Given the description of an element on the screen output the (x, y) to click on. 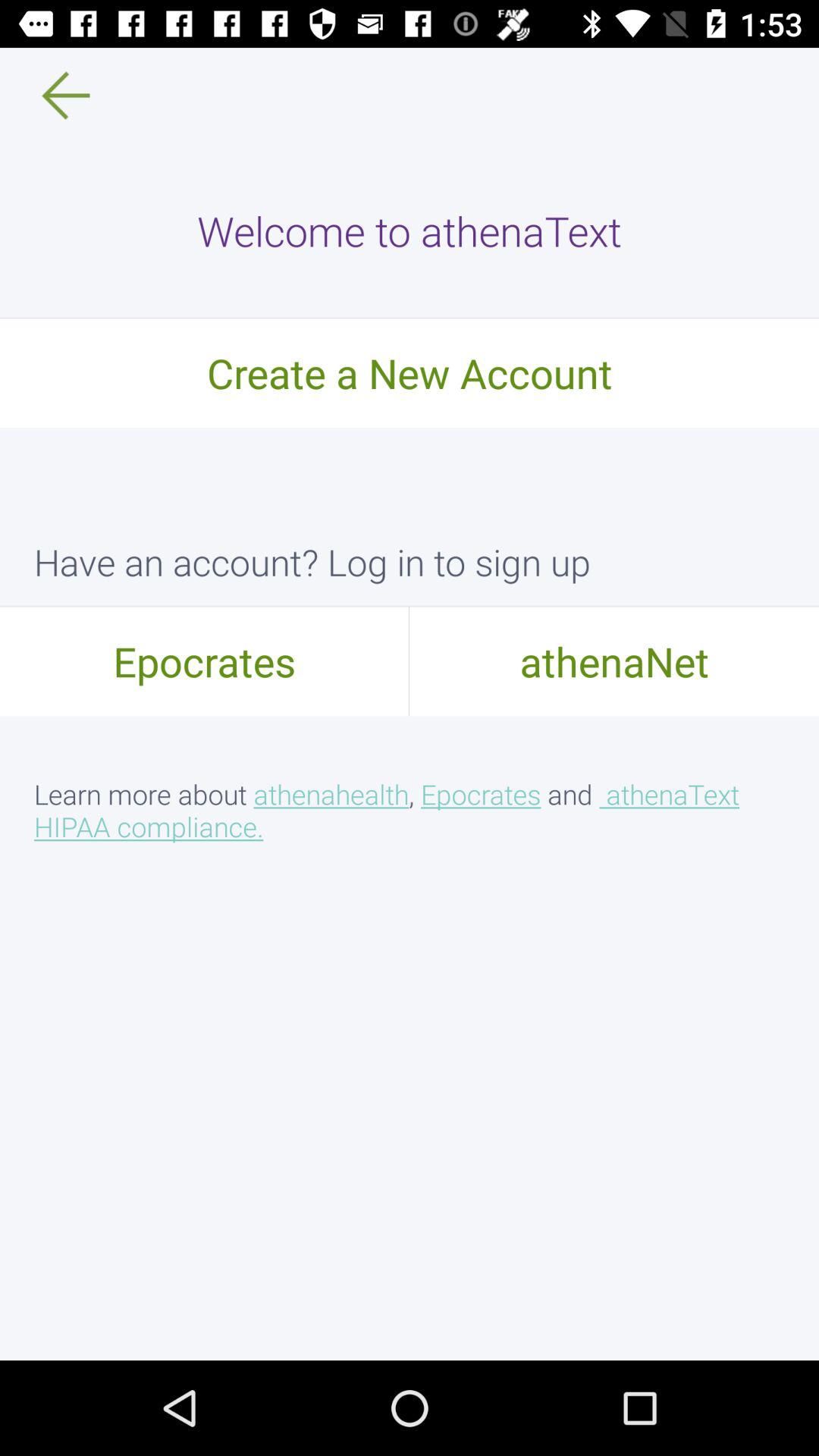
click item above have an account (409, 372)
